Given the description of an element on the screen output the (x, y) to click on. 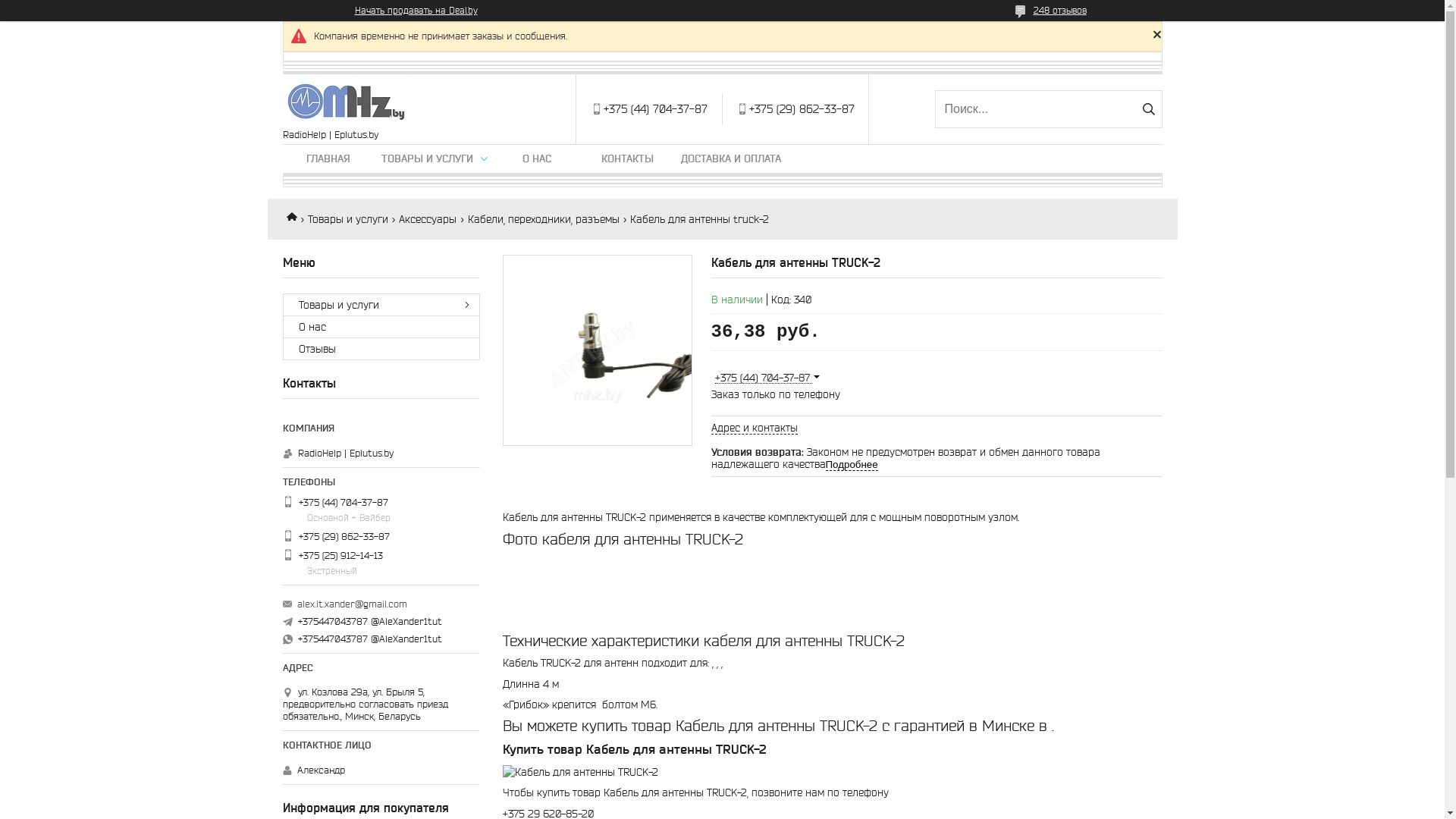
alex.it.xander@gmail.com Element type: text (352, 604)
Radiohelp | eplutus.by Element type: hover (296, 214)
RadioHelp | Eplutus.by Element type: hover (346, 101)
